Given the description of an element on the screen output the (x, y) to click on. 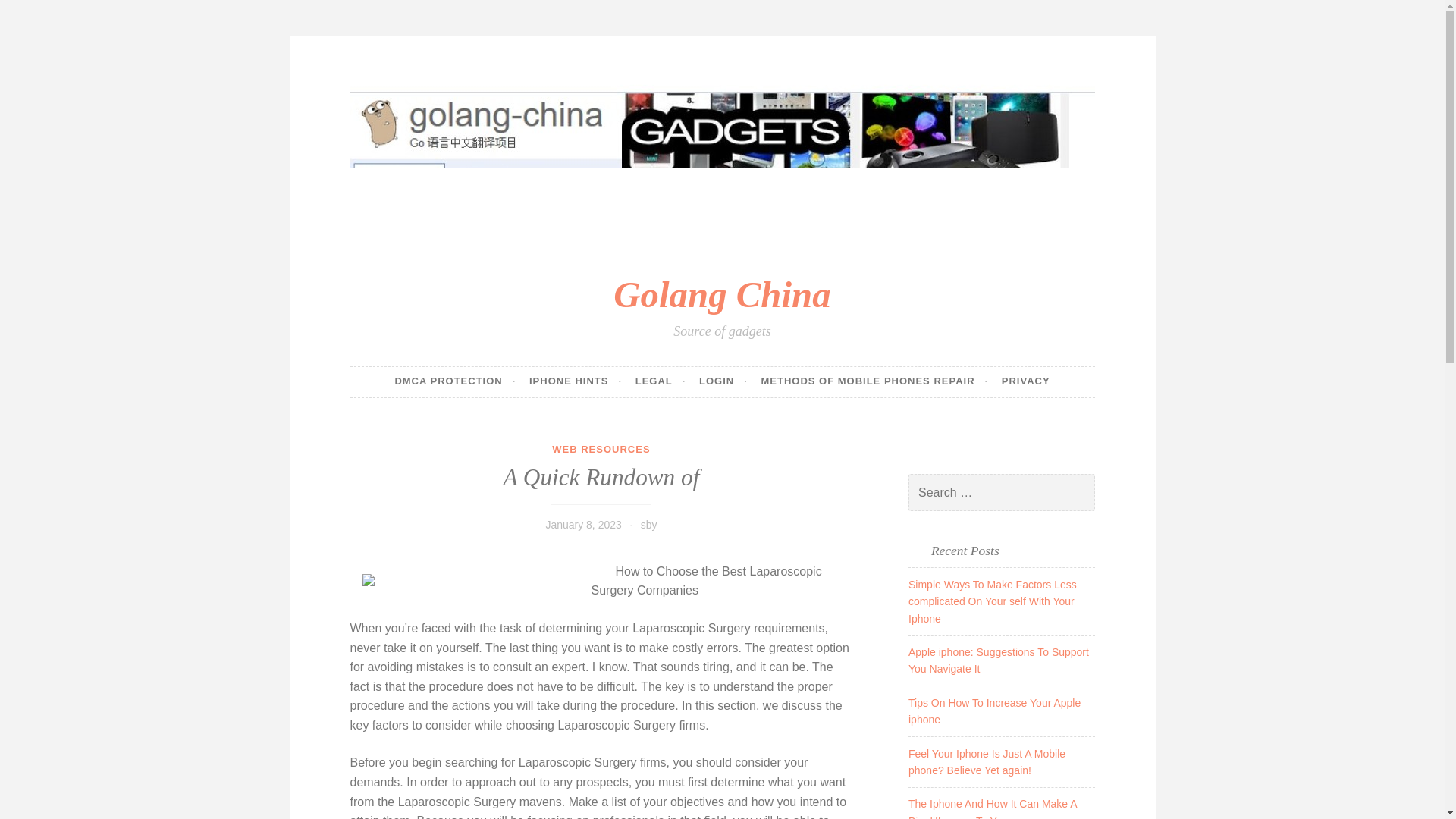
Apple iphone: Suggestions To Support You Navigate It (998, 660)
Golang China (720, 294)
PRIVACY (1025, 381)
The Iphone And How It Can Make A Big difference To You (992, 808)
METHODS OF MOBILE PHONES REPAIR (874, 381)
Search (33, 13)
Tips On How To Increase Your Apple iphone (994, 710)
LOGIN (723, 381)
